Given the description of an element on the screen output the (x, y) to click on. 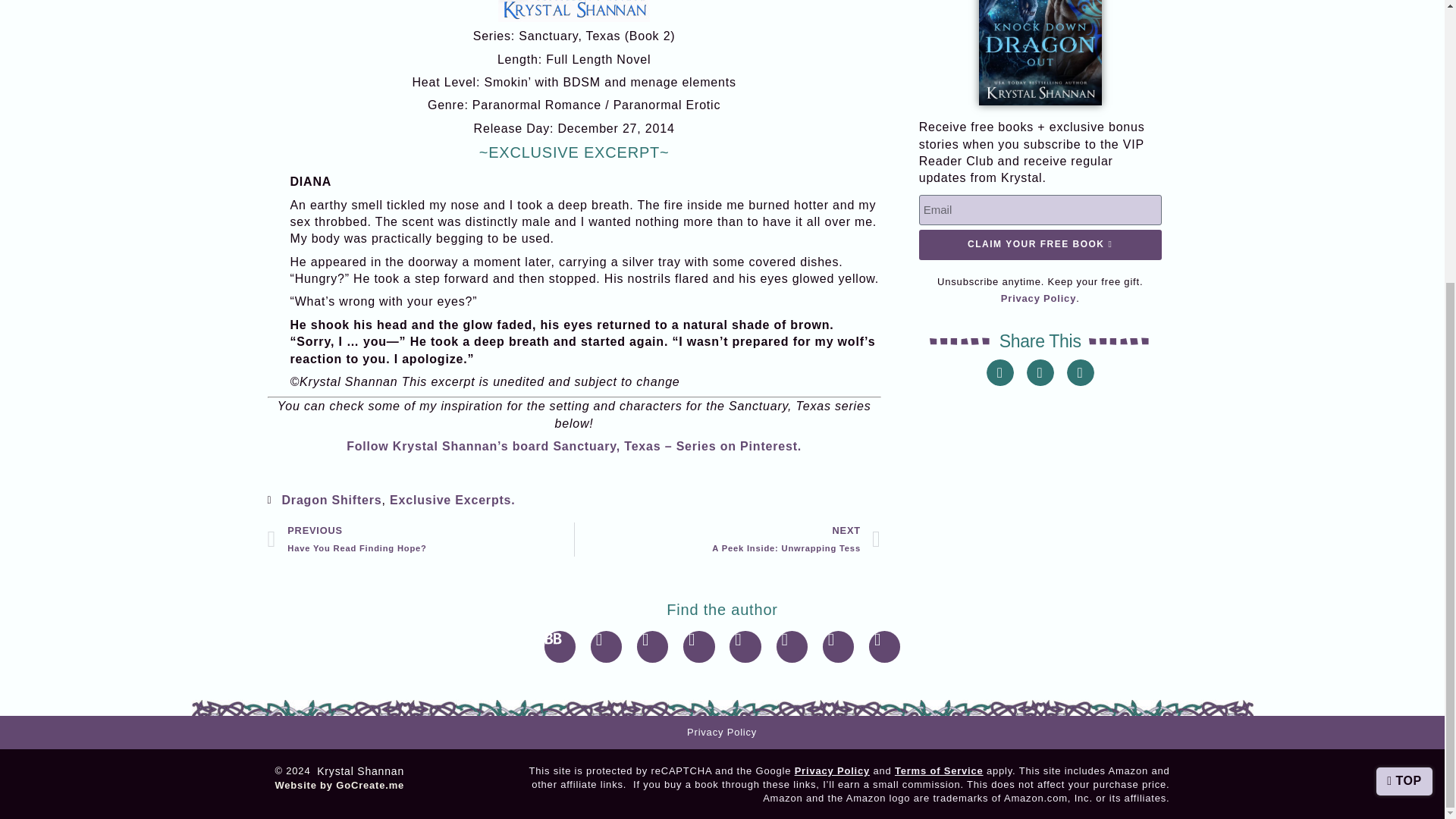
Exclusive Excerpts. (452, 499)
Privacy Policy (1038, 297)
CLAIM YOUR FREE BOOK (419, 539)
TOP (1039, 245)
Dragon Shifters (727, 539)
